Given the description of an element on the screen output the (x, y) to click on. 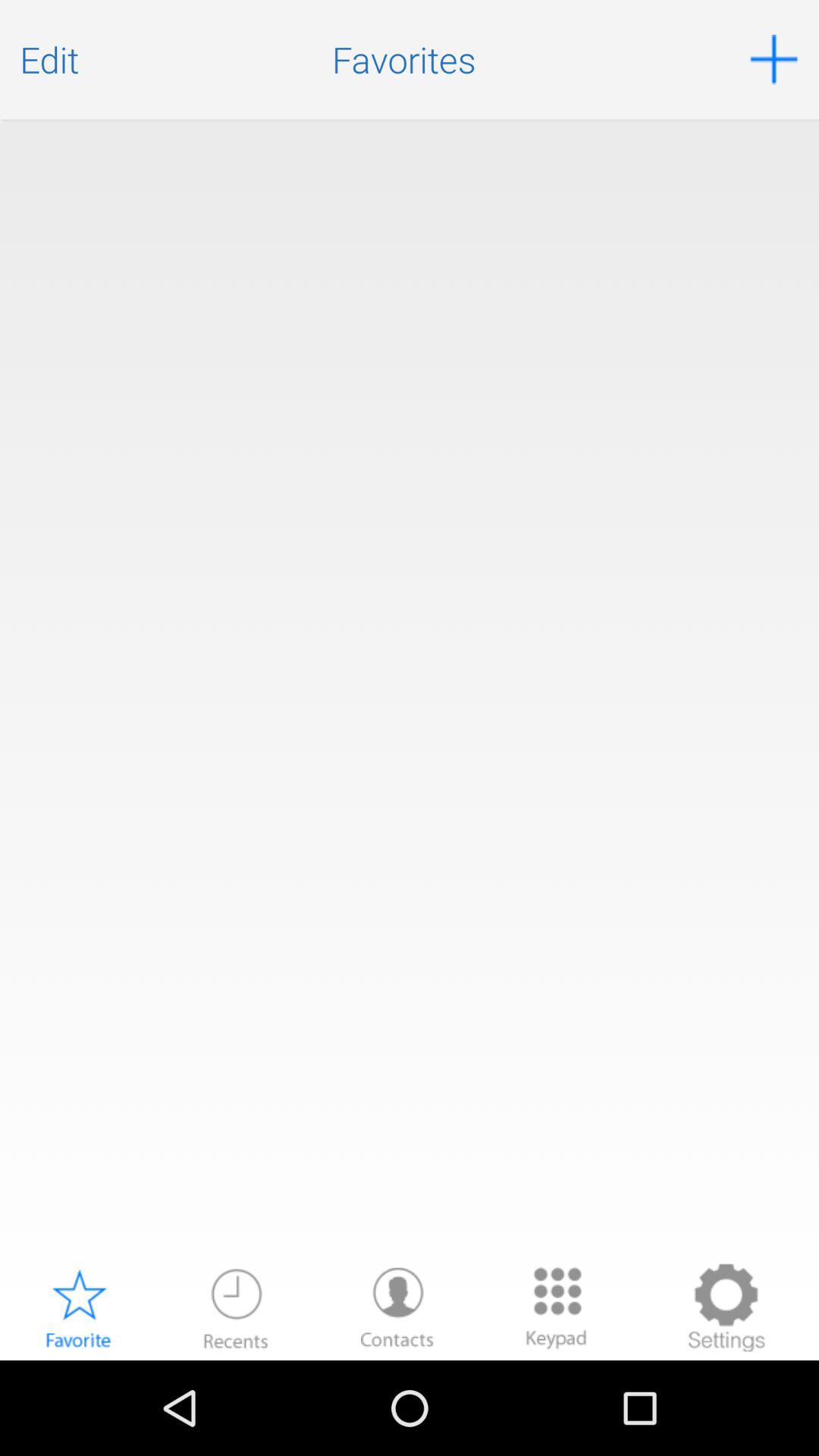
jump to the edit (49, 59)
